Given the description of an element on the screen output the (x, y) to click on. 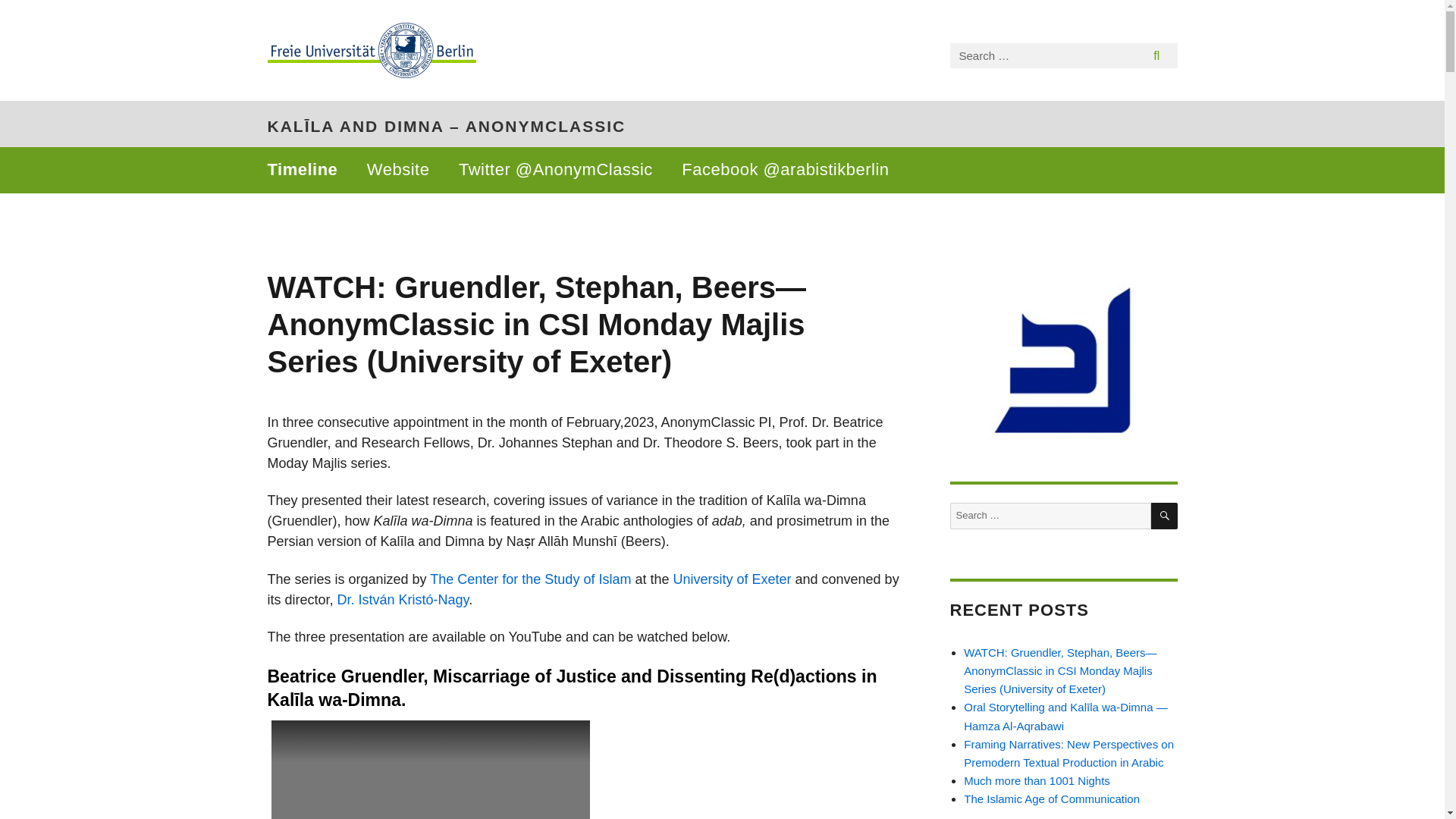
University of Exeter (731, 579)
Search (1155, 55)
The Center for the Study of Islam (529, 579)
Timeline (301, 170)
Website (398, 170)
